Given the description of an element on the screen output the (x, y) to click on. 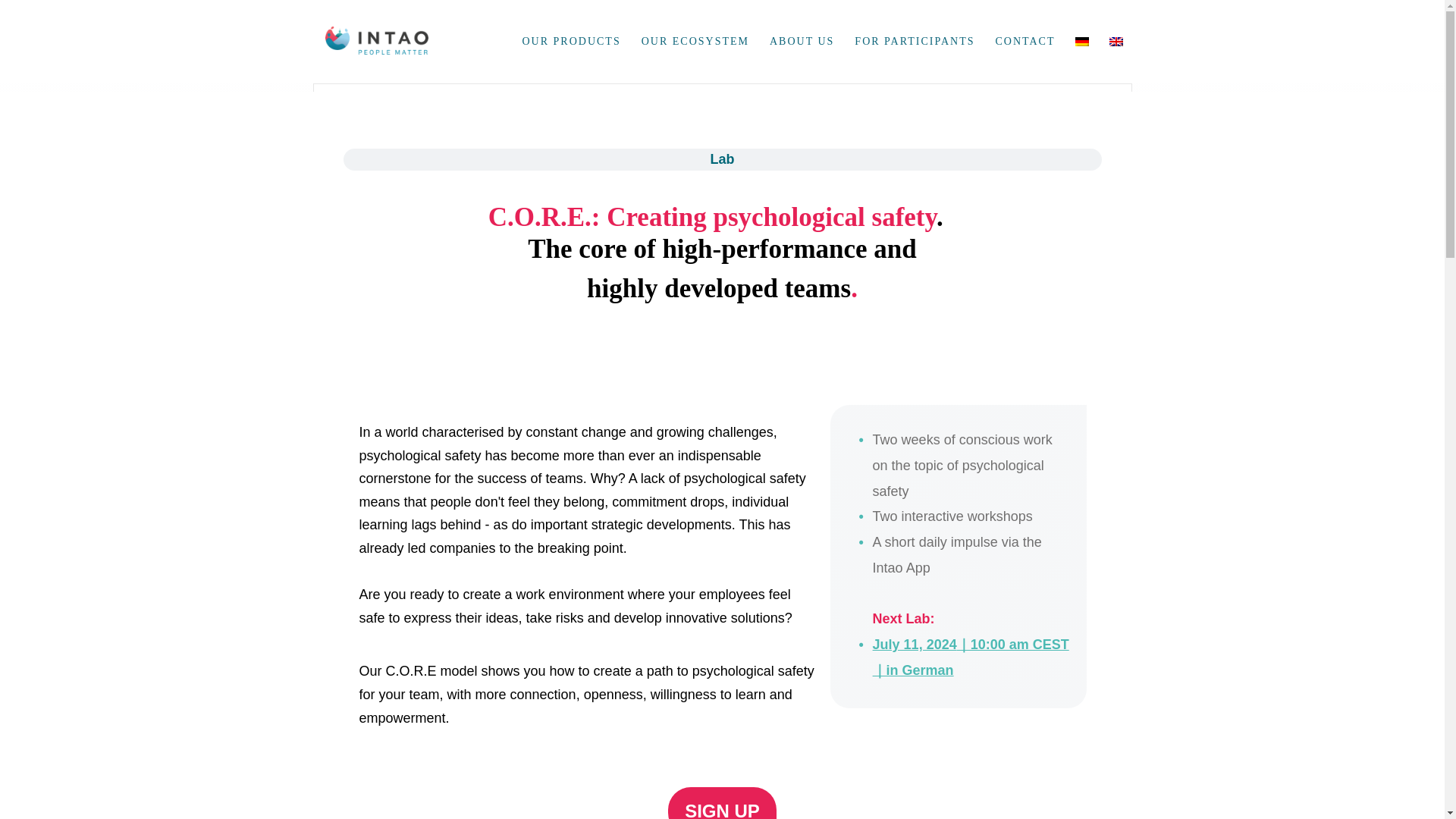
FOR PARTICIPANTS (913, 41)
ABOUT US (802, 41)
CONTACT (1024, 41)
SIGN UP (722, 803)
OUR ECOSYSTEM (695, 41)
SIGN UP (722, 803)
OUR PRODUCTS (570, 41)
